Given the description of an element on the screen output the (x, y) to click on. 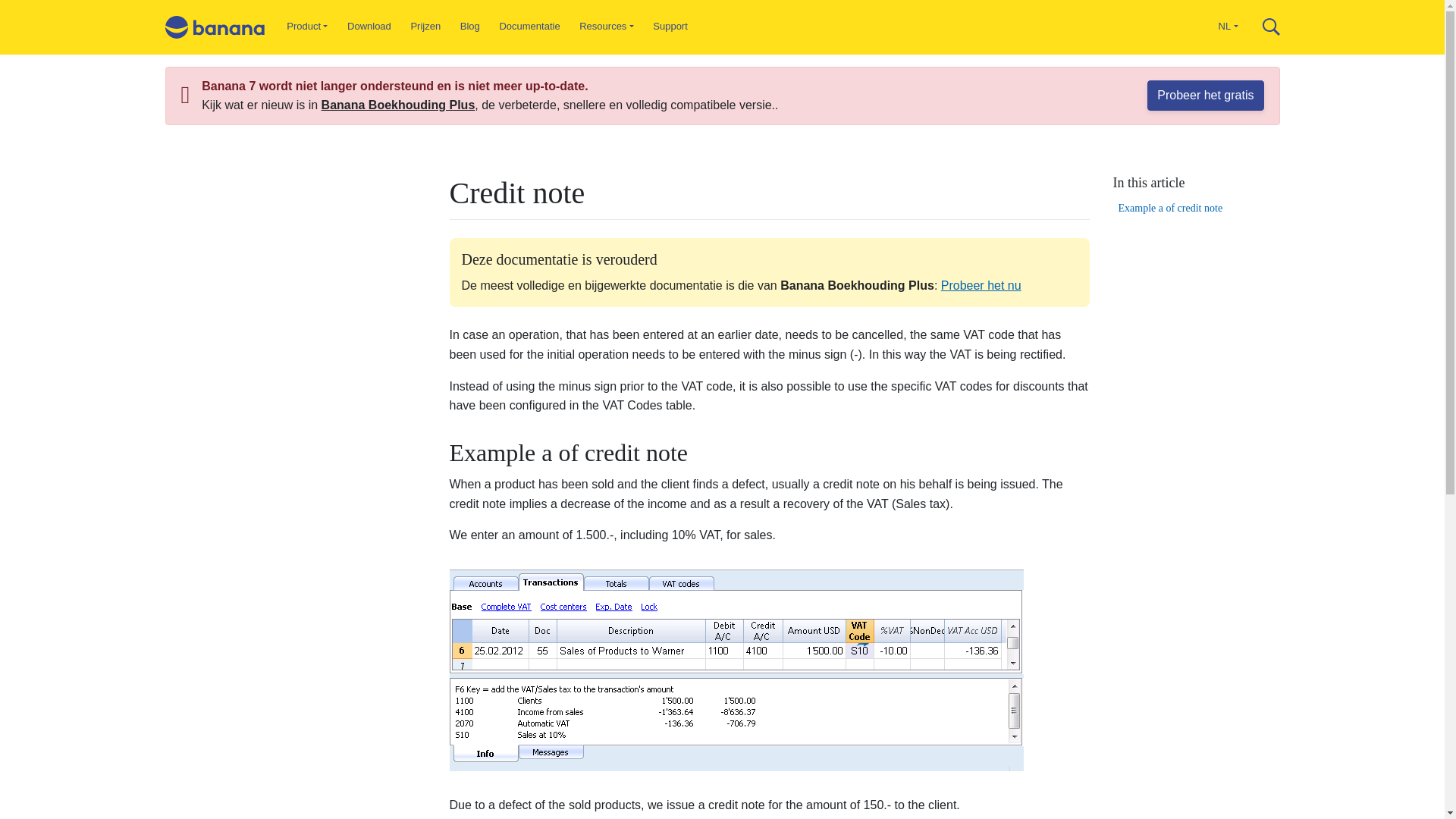
Blog (469, 26)
Home (214, 27)
Probeer het nu (981, 285)
Example a of credit note (1195, 207)
Resources (606, 26)
Banana Boekhouding Plus (398, 104)
Overslaan en naar de inhoud gaan (721, 1)
Download (368, 26)
Probeer het gratis (1205, 95)
Support (670, 26)
Documentatie (529, 26)
Product (307, 26)
Prijzen (425, 26)
